Given the description of an element on the screen output the (x, y) to click on. 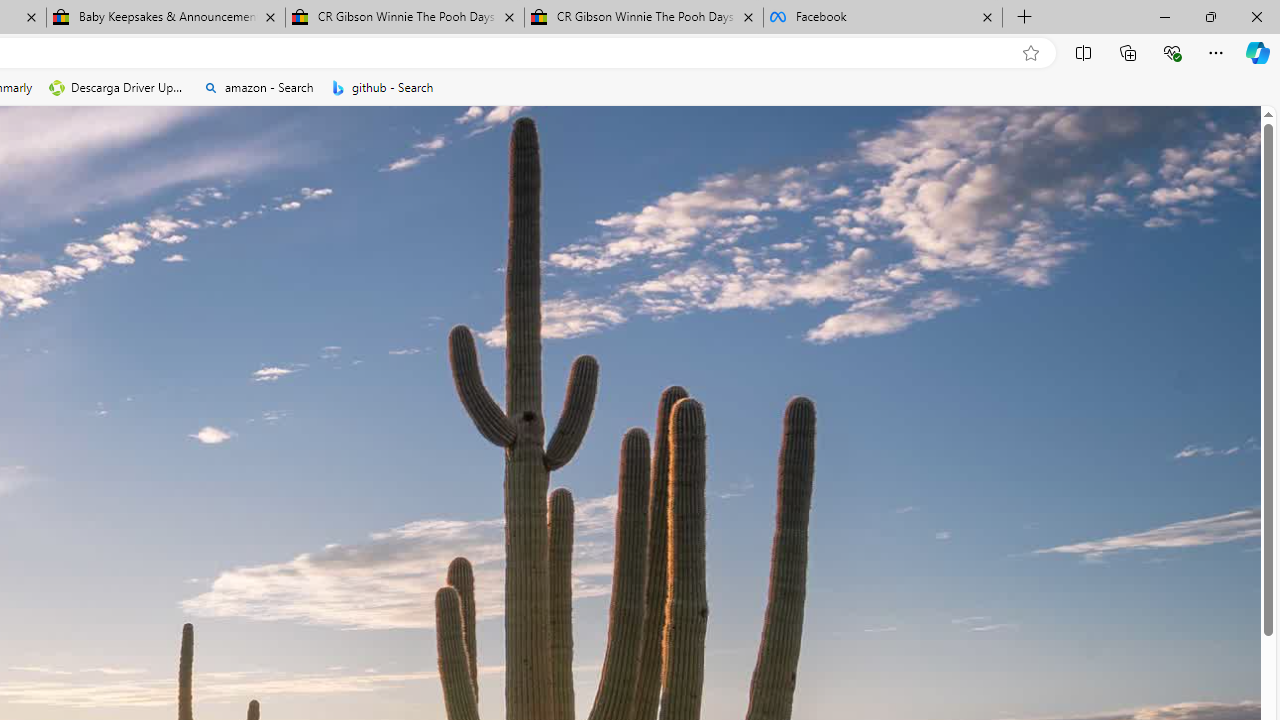
My location (555, 315)
See full forecast (695, 579)
Shanghai (511, 315)
